Given the description of an element on the screen output the (x, y) to click on. 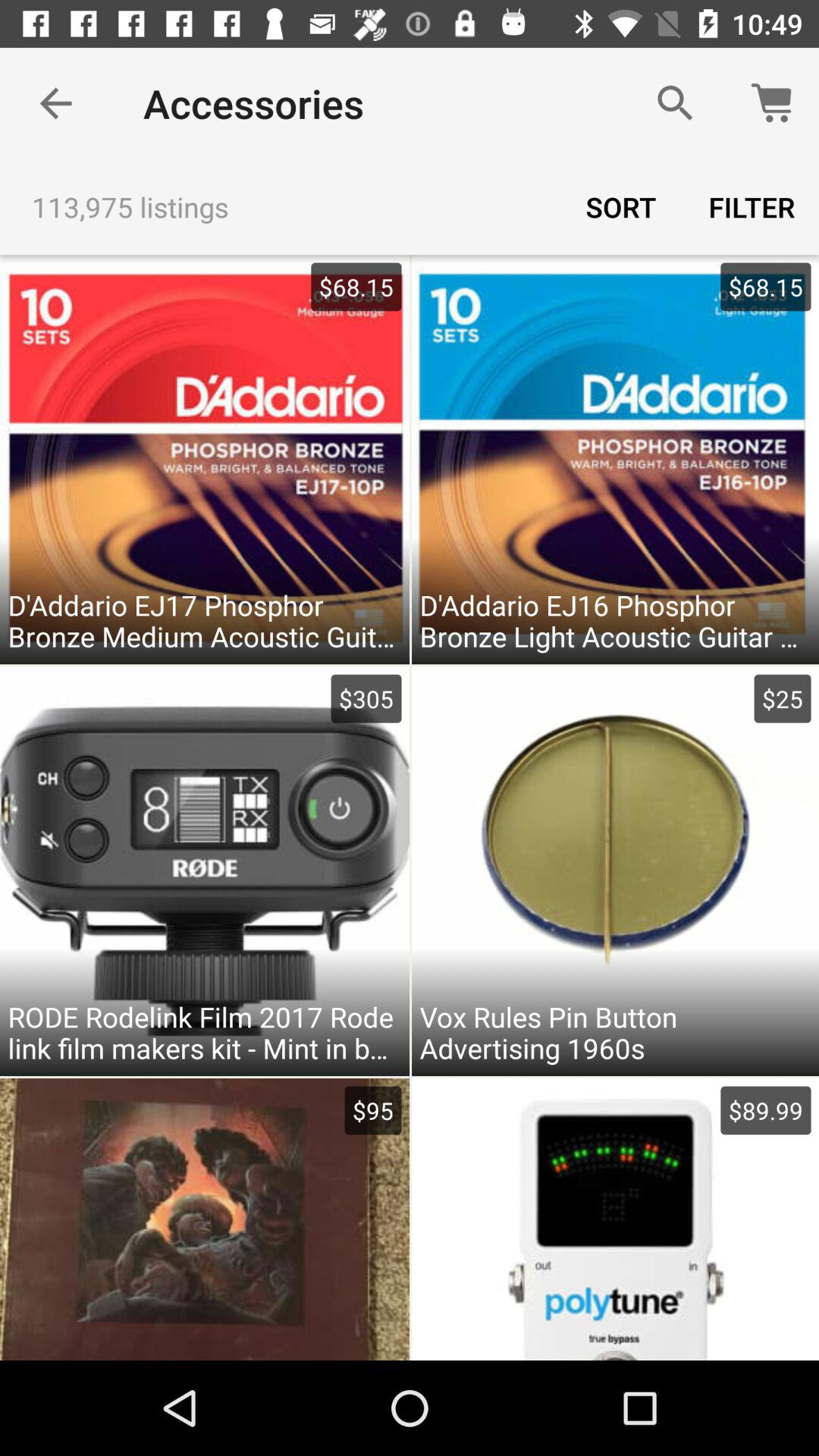
scroll to filter item (751, 206)
